Given the description of an element on the screen output the (x, y) to click on. 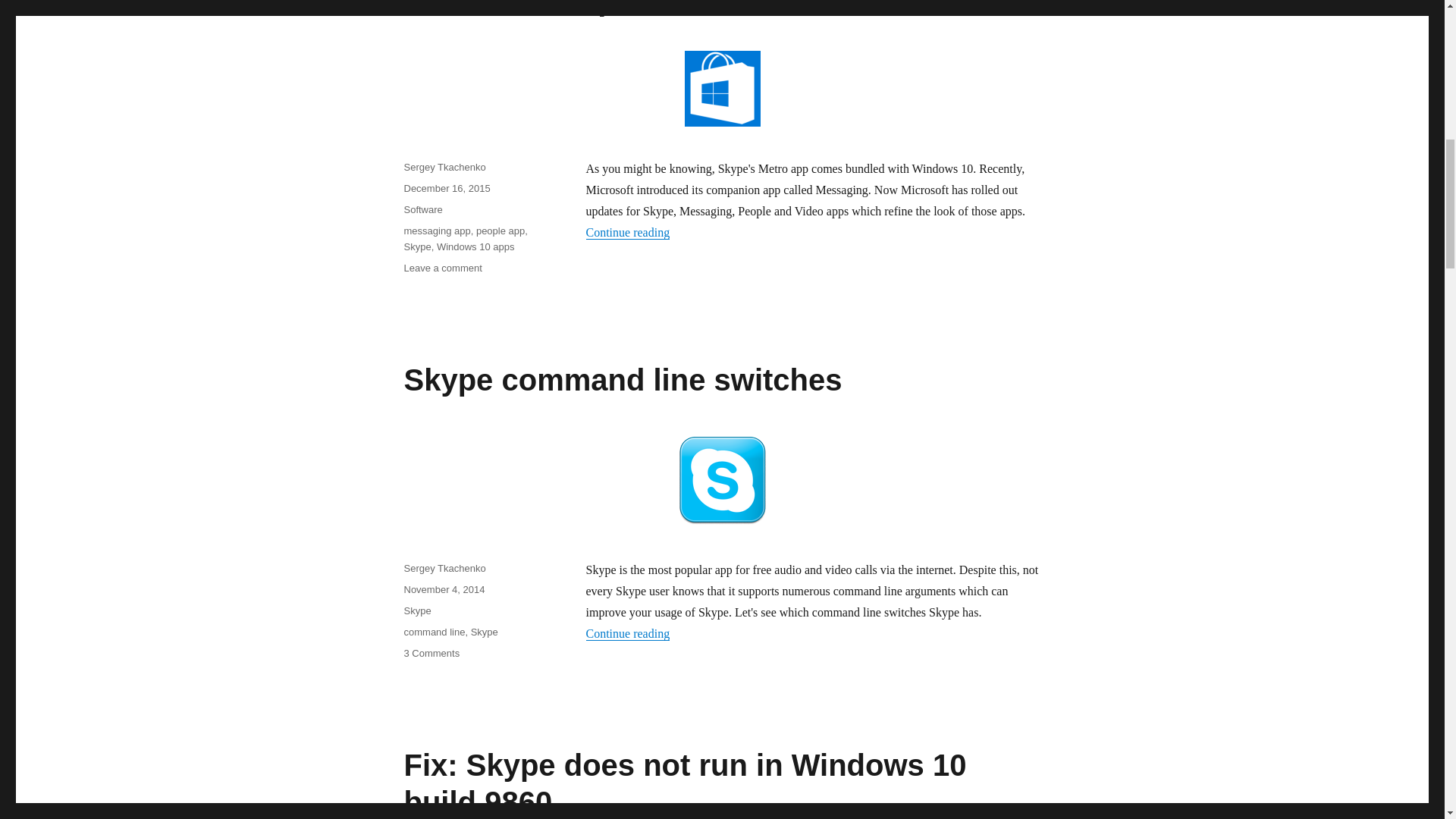
Skype command line switches (622, 379)
Skype (627, 633)
messaging app (416, 610)
command line (431, 653)
December 16, 2015 (436, 230)
Skype (433, 632)
November 4, 2014 (446, 188)
Windows 10 apps (483, 632)
Fix: Skype does not run in Windows 10 build 9860 (443, 589)
Sergey Tkachenko (475, 246)
Software (684, 783)
Sergey Tkachenko (443, 568)
people app (422, 209)
